Given the description of an element on the screen output the (x, y) to click on. 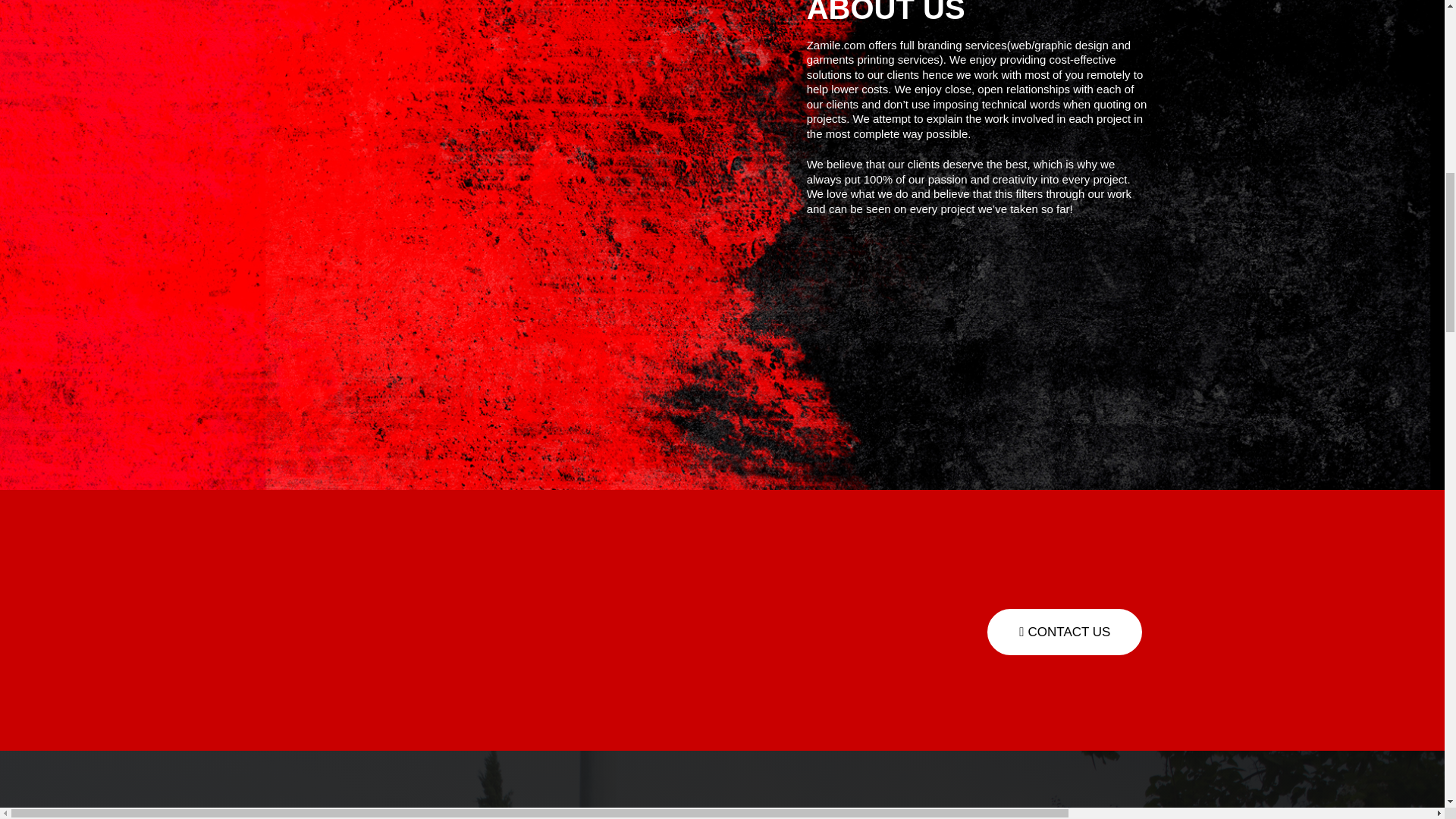
CONTACT US (1064, 632)
